Given the description of an element on the screen output the (x, y) to click on. 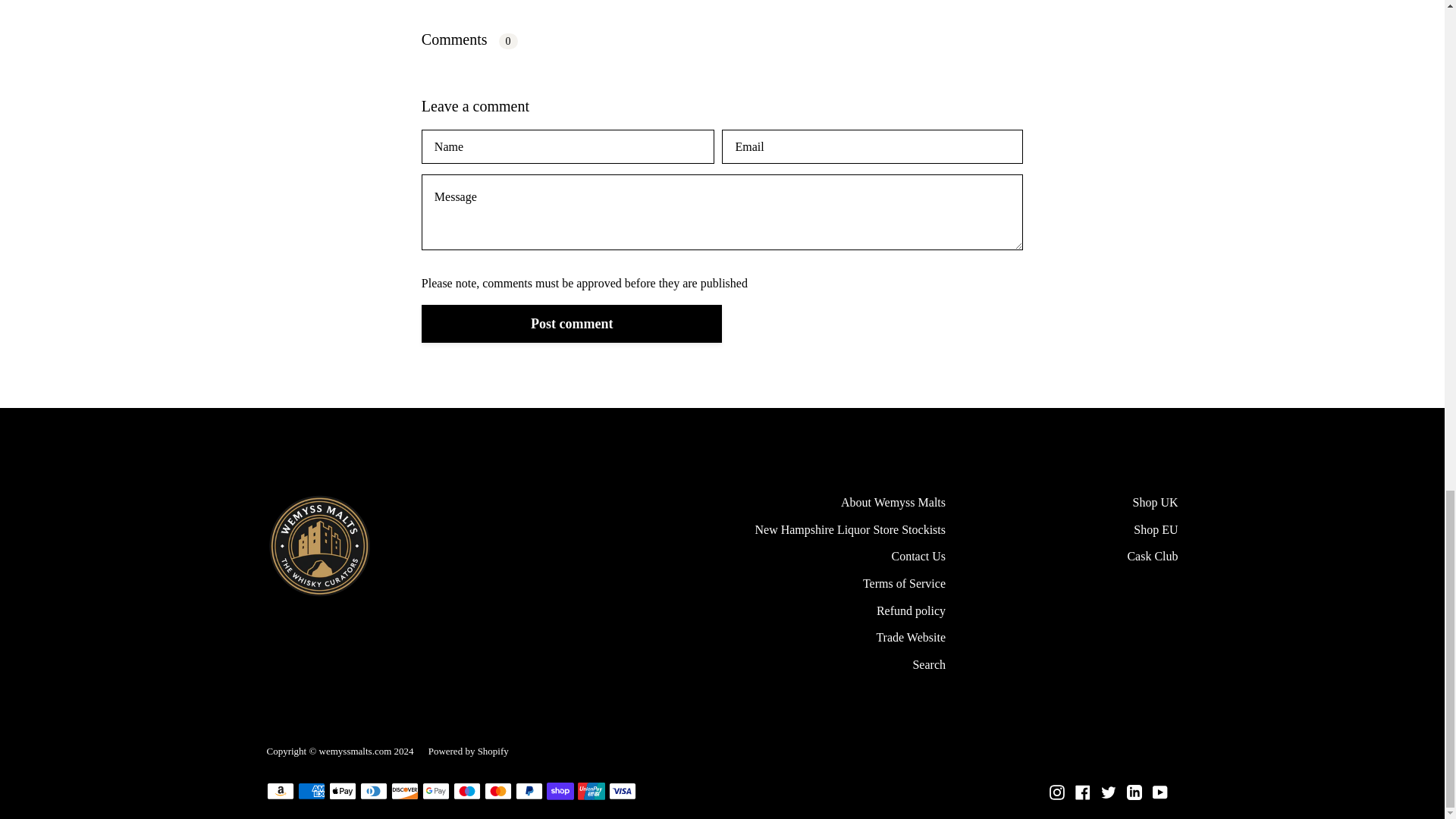
wemyssmalts.com on Twitter (1108, 792)
Post comment (572, 323)
wemyssmalts.com on Instagram (1056, 792)
wemyssmalts.com on Linkedin (1133, 792)
wemyssmalts.com on YouTube (1160, 792)
wemyssmalts.com on Facebook (1082, 792)
